Given the description of an element on the screen output the (x, y) to click on. 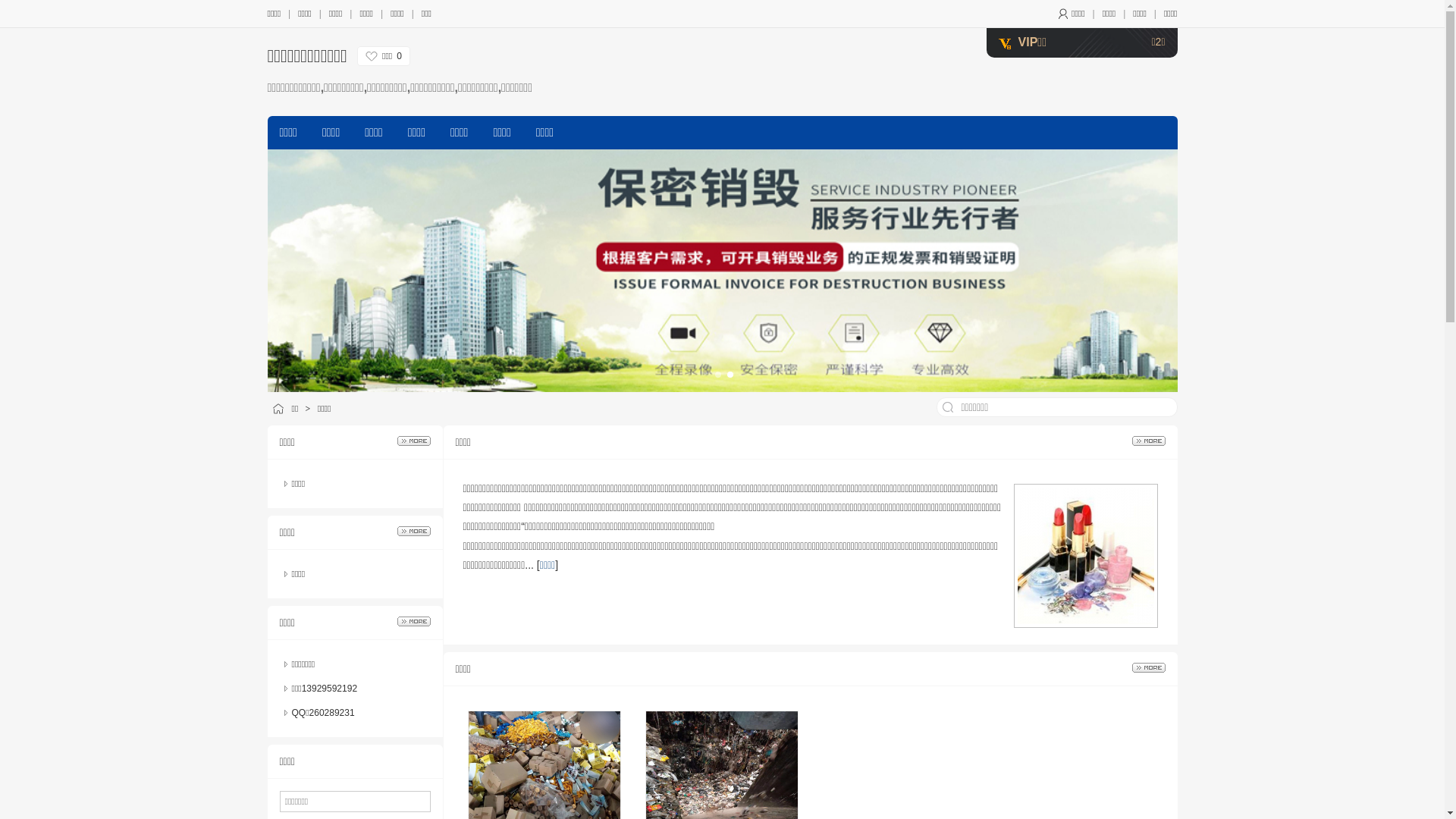
260289231 Element type: text (331, 712)
VIP:8/10 Element type: hover (1003, 43)
